Given the description of an element on the screen output the (x, y) to click on. 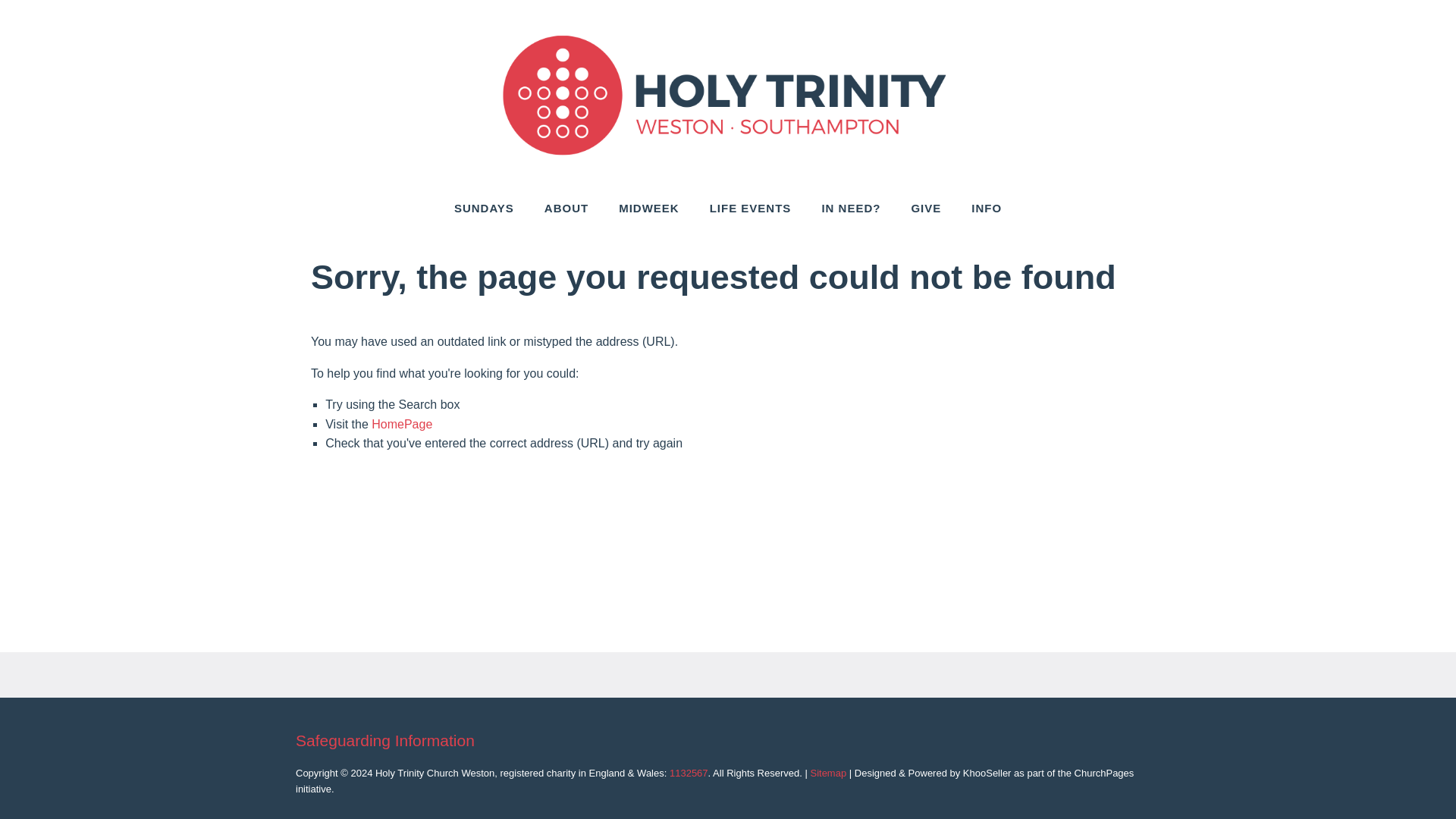
INFO (986, 208)
Safeguarding Information (384, 740)
LIFE EVENTS (750, 208)
Sitemap (827, 772)
SUNDAYS (484, 208)
1132567 (688, 772)
IN NEED? (850, 208)
HomePage (401, 423)
Link to Charity Commission website (688, 772)
Sitemap (827, 772)
Link to our safeguarding information (384, 740)
ABOUT (566, 208)
GIVE (925, 208)
MIDWEEK (649, 208)
